Given the description of an element on the screen output the (x, y) to click on. 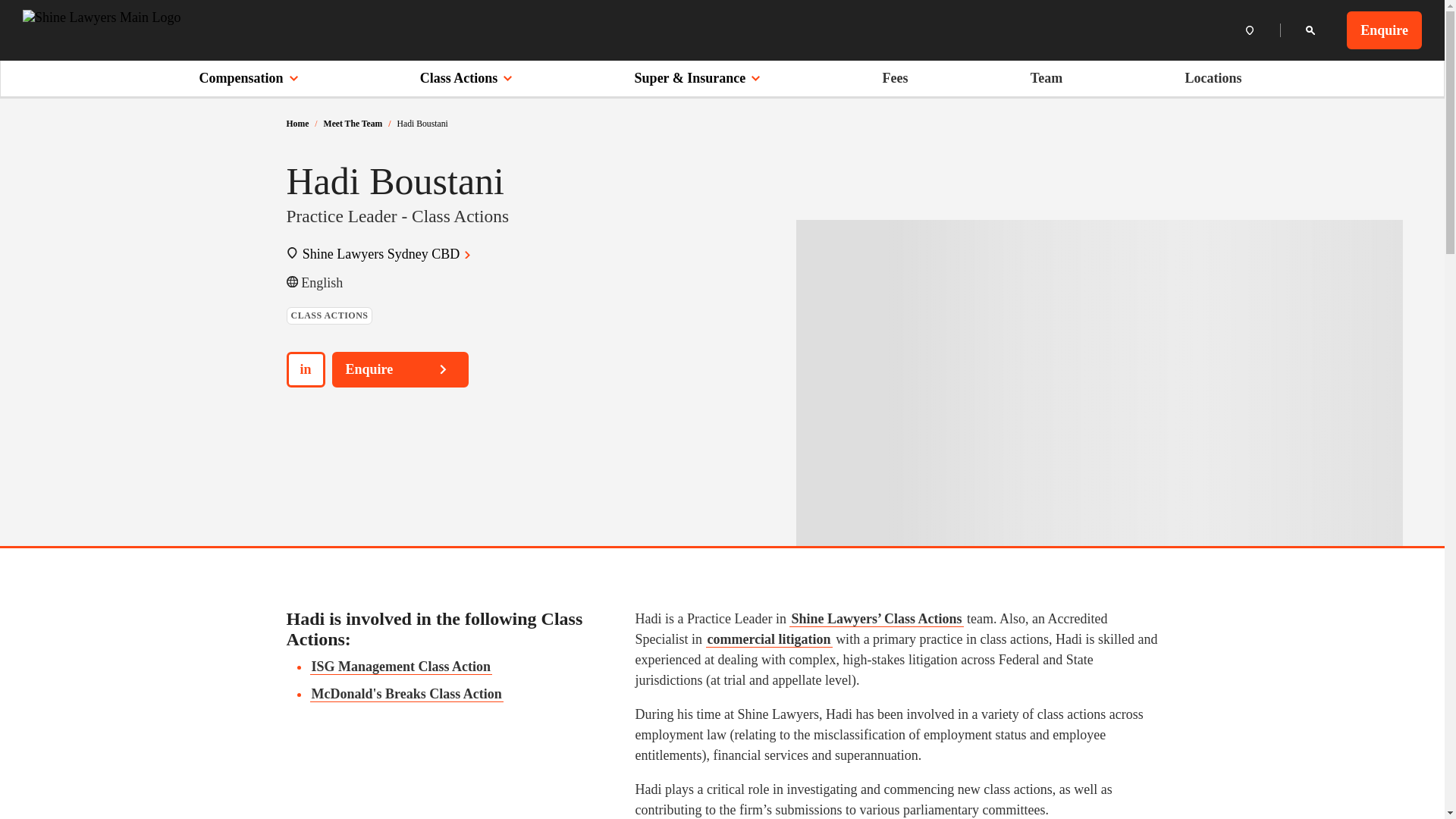
Enquire (1384, 30)
Home (297, 123)
McDonald's Breaks Class Action (405, 693)
Locations (1213, 77)
Shine Lawyers Sydney CBD (389, 253)
ISG Management Class Action (400, 666)
Enquire (399, 369)
Team (1046, 77)
in (305, 369)
Fees (895, 77)
commercial litigation (767, 639)
